Given the description of an element on the screen output the (x, y) to click on. 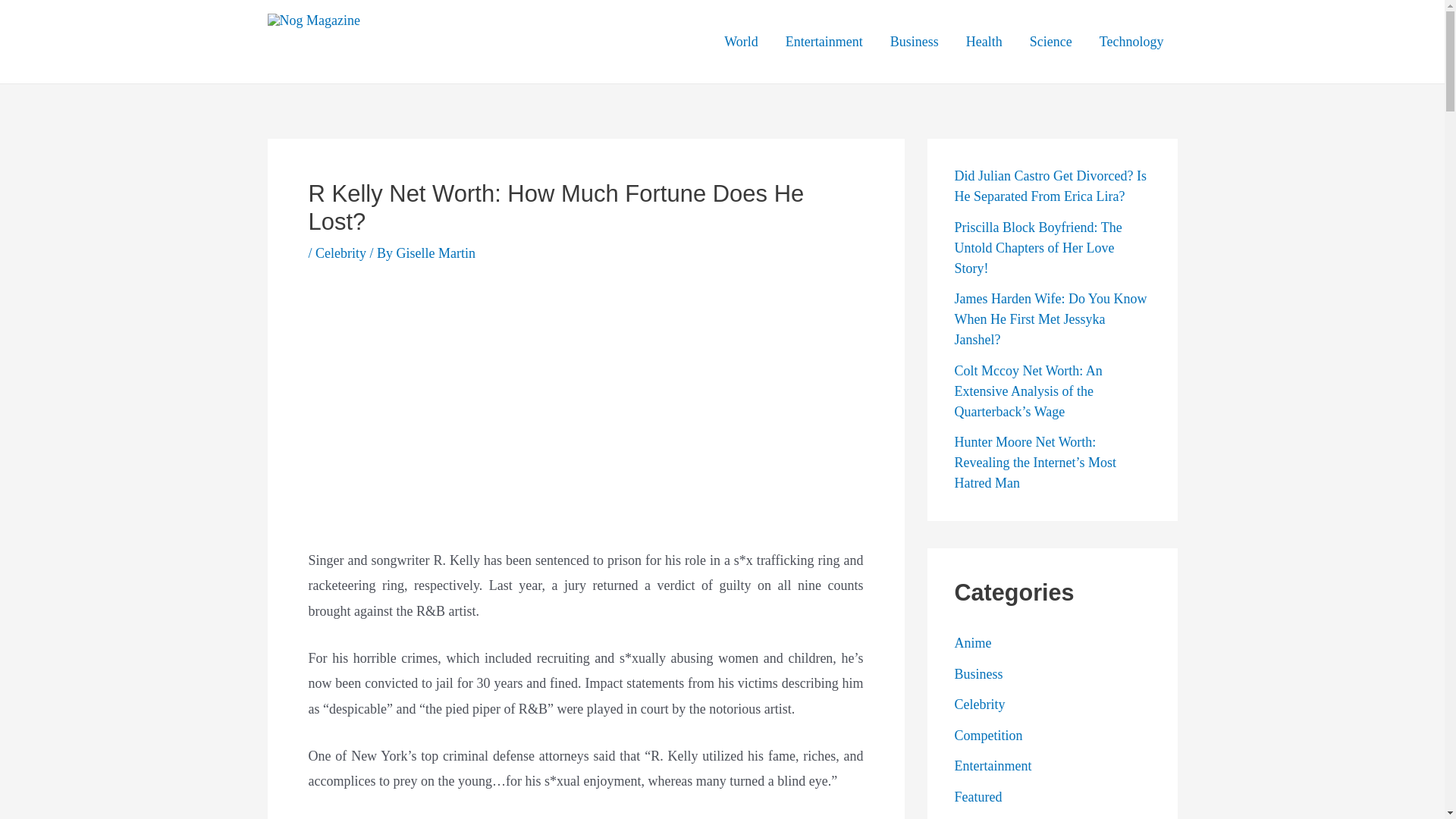
Health (984, 41)
Business (914, 41)
Technology (1131, 41)
Entertainment (823, 41)
View all posts by Giselle Martin (436, 253)
Giselle Martin (436, 253)
Science (1051, 41)
World (740, 41)
Celebrity (340, 253)
